Given the description of an element on the screen output the (x, y) to click on. 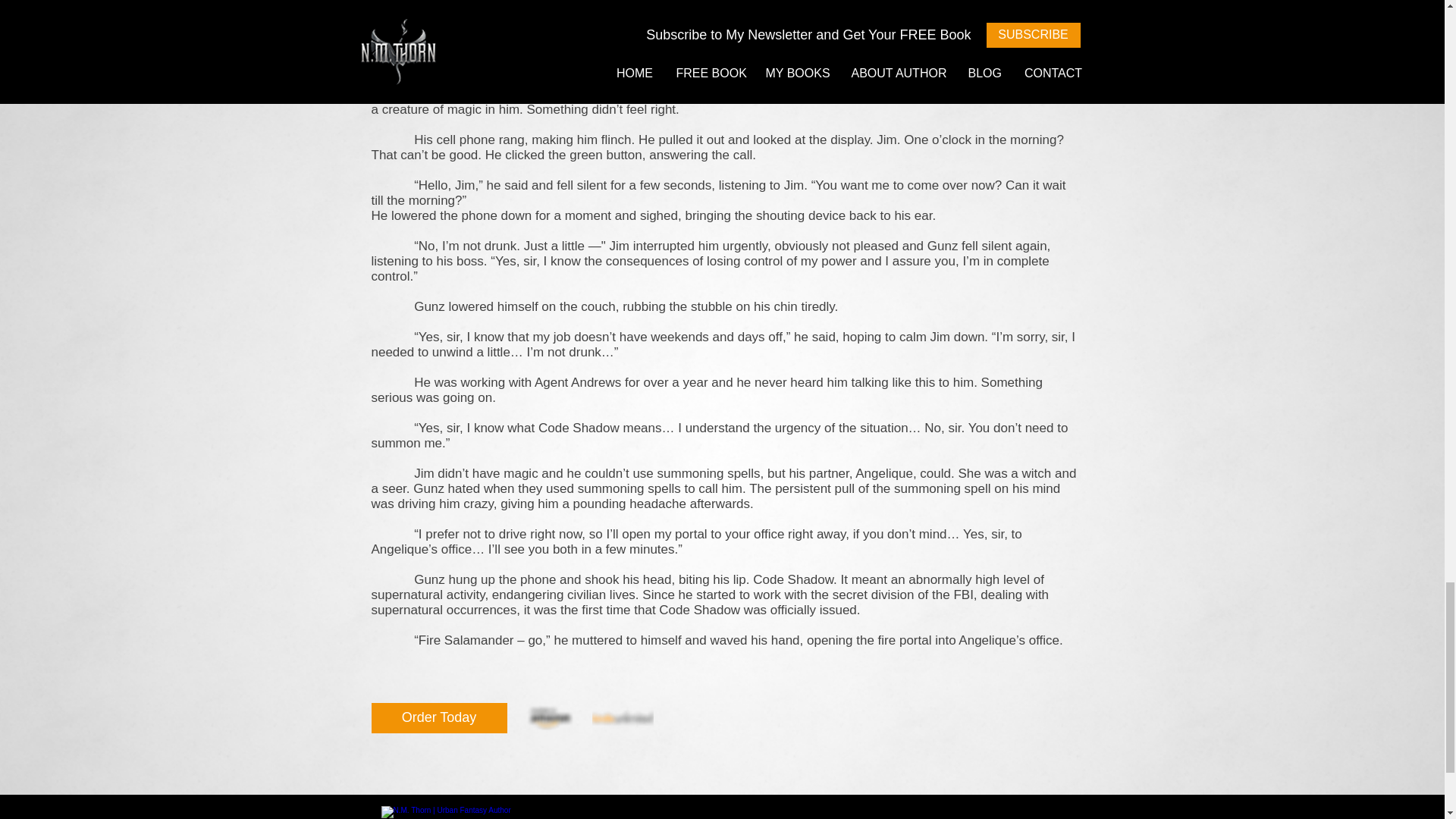
Order Today (438, 717)
